Given the description of an element on the screen output the (x, y) to click on. 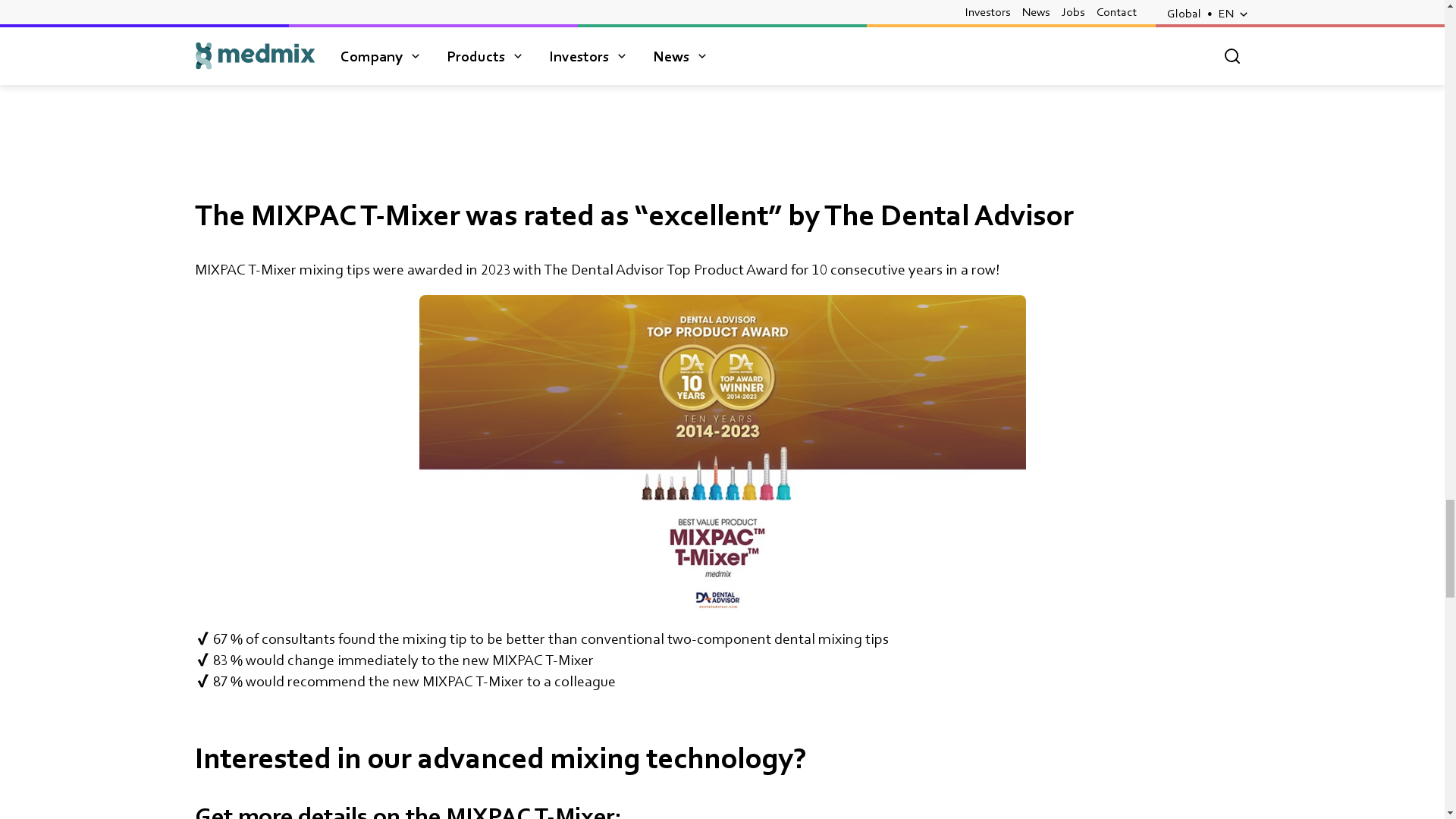
Mixing mechanism for the T-Mixer mixing tip (453, 49)
Mixing mechanism for the Helical mixing tip (989, 49)
